Given the description of an element on the screen output the (x, y) to click on. 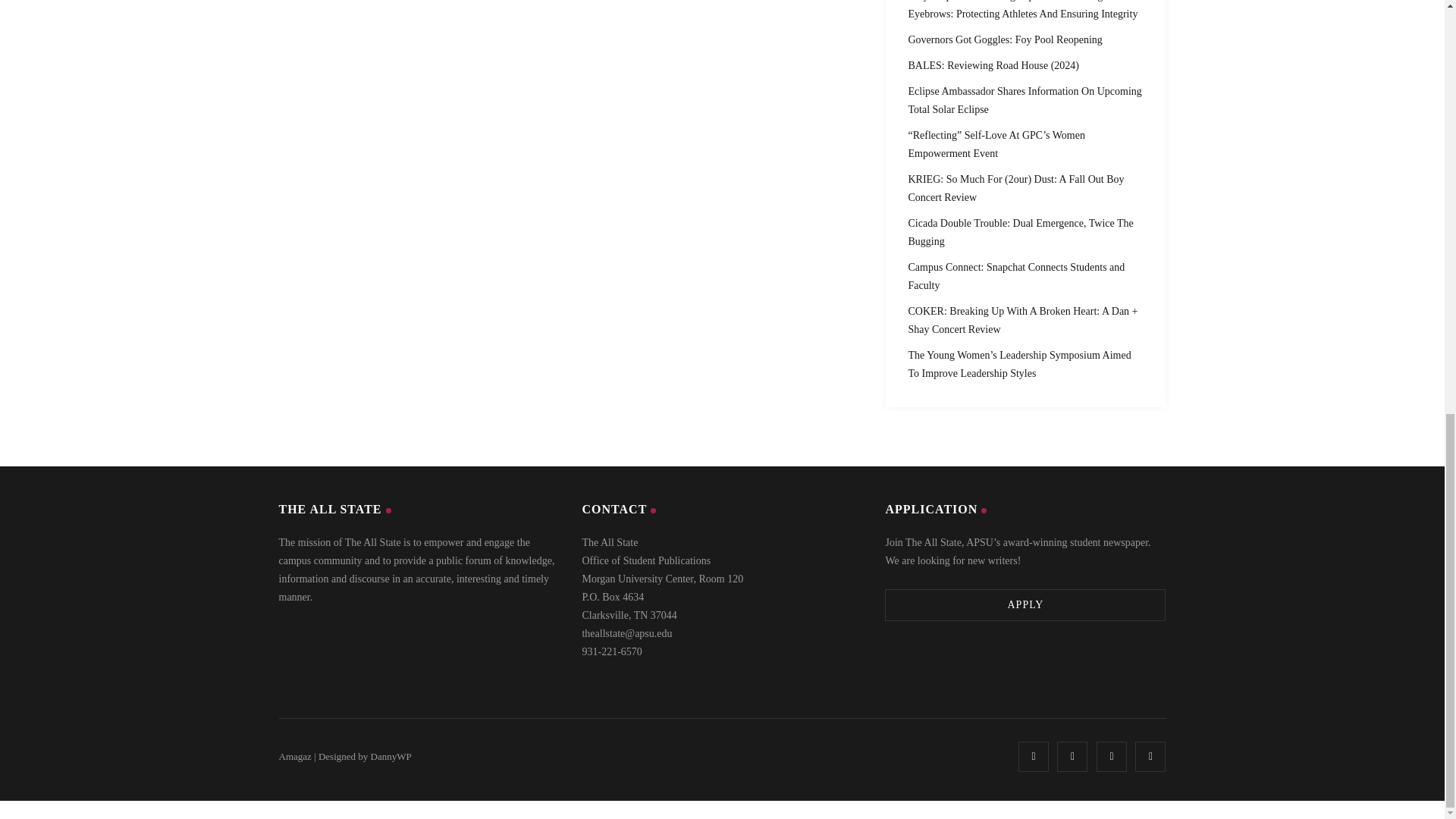
Governors Got Goggles: Foy Pool Reopening (1005, 39)
